Given the description of an element on the screen output the (x, y) to click on. 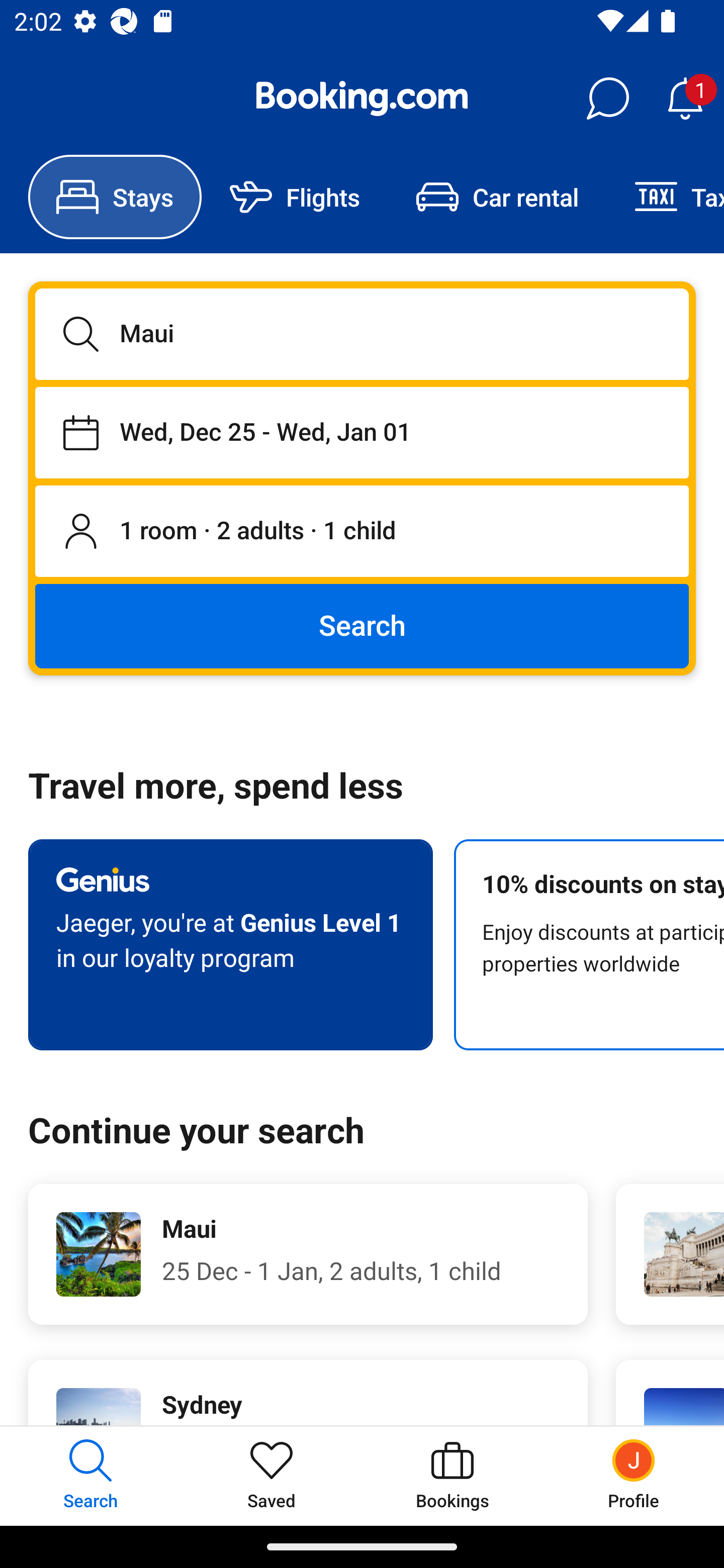
Messages (607, 98)
Notifications (685, 98)
Stays (114, 197)
Flights (294, 197)
Car rental (497, 197)
Taxi (665, 197)
Maui (361, 333)
Staying from Wed, Dec 25 until Wed, Jan 01 (361, 432)
1 room, 2 adults, 1 child (361, 531)
Search (361, 625)
Maui 25 Dec - 1 Jan, 2 adults, 1 child (307, 1253)
Saved (271, 1475)
Bookings (452, 1475)
Profile (633, 1475)
